Given the description of an element on the screen output the (x, y) to click on. 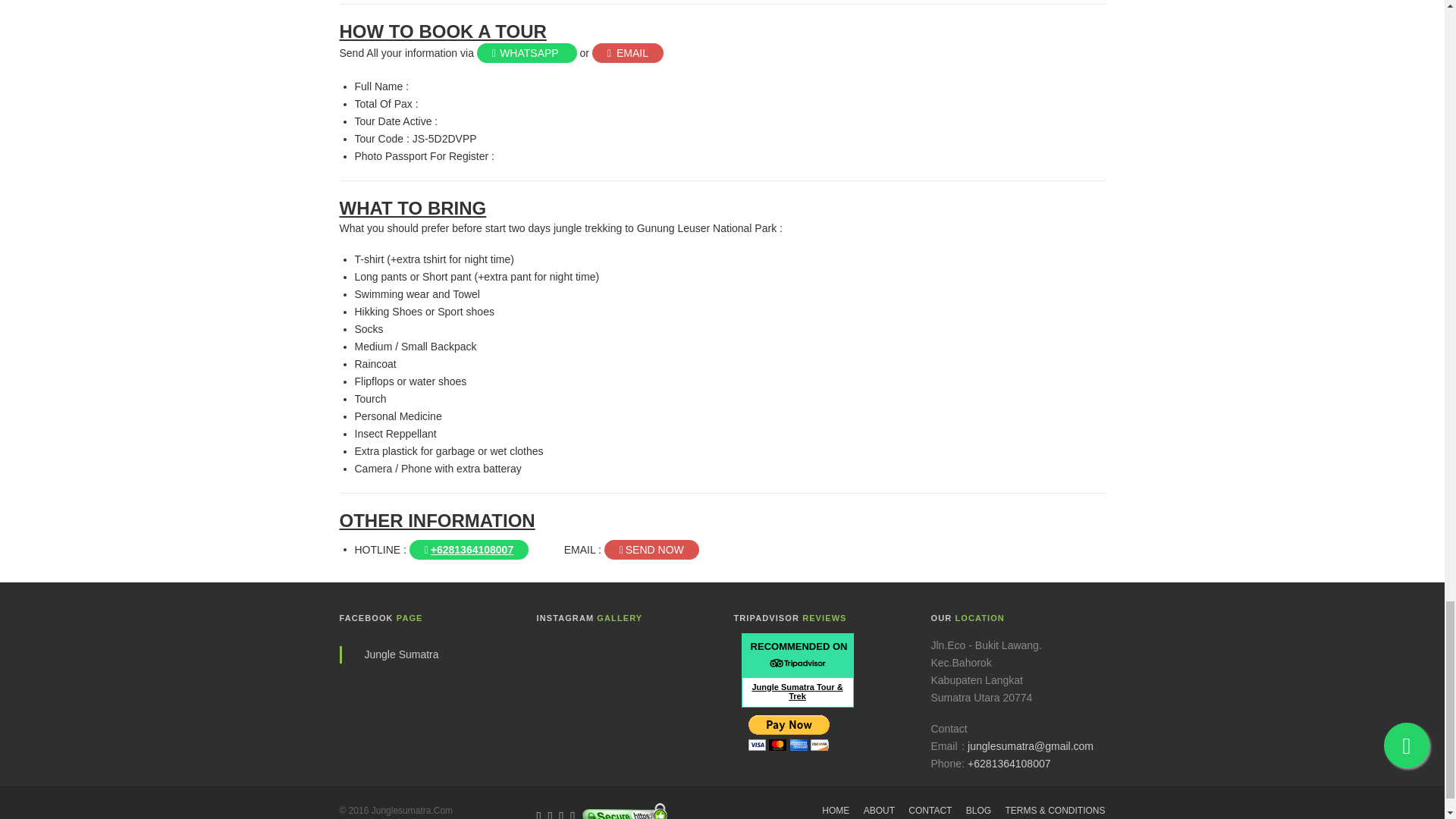
Instagram widgets for website (628, 678)
This website is secure for transaction!! (623, 807)
